Given the description of an element on the screen output the (x, y) to click on. 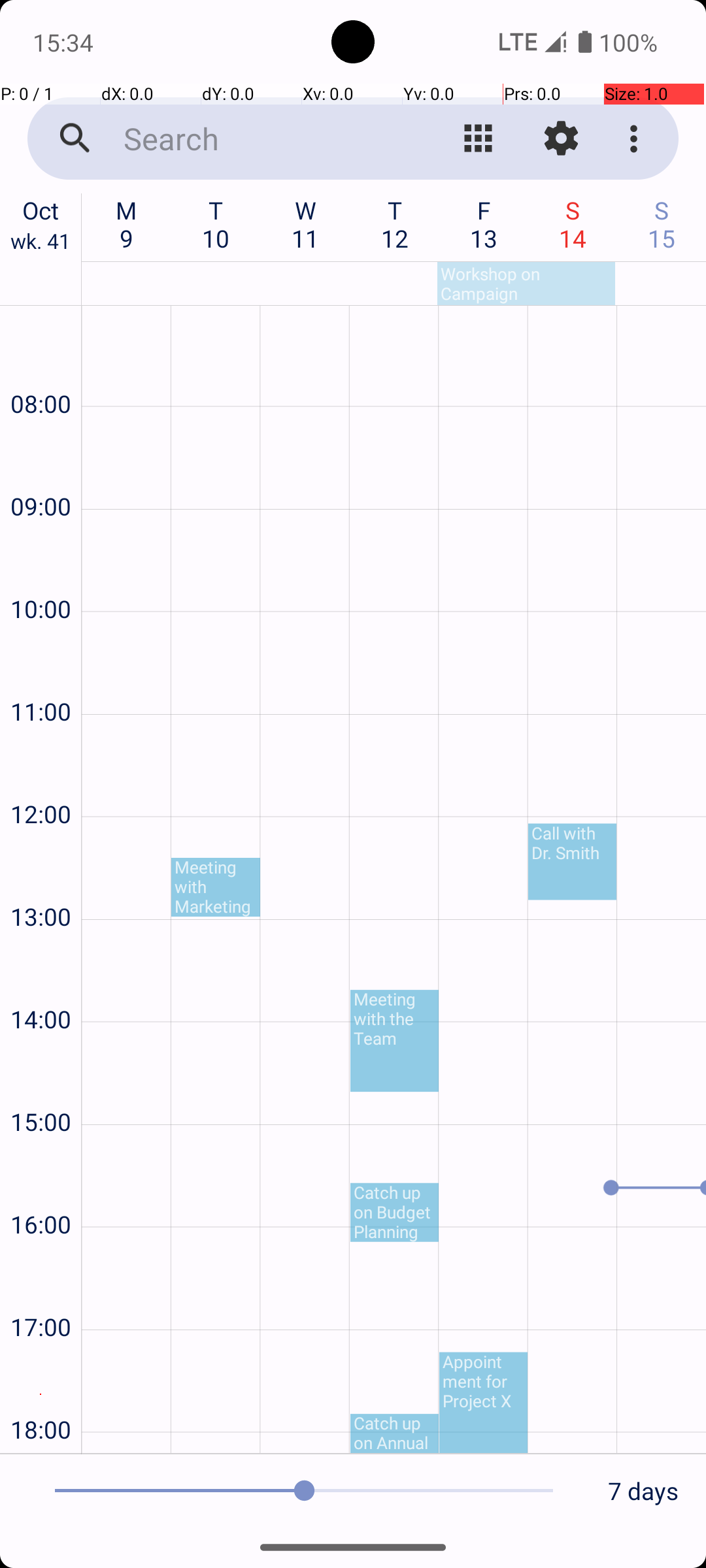
Catch up on Budget Planning Element type: android.widget.TextView (394, 1212)
